Given the description of an element on the screen output the (x, y) to click on. 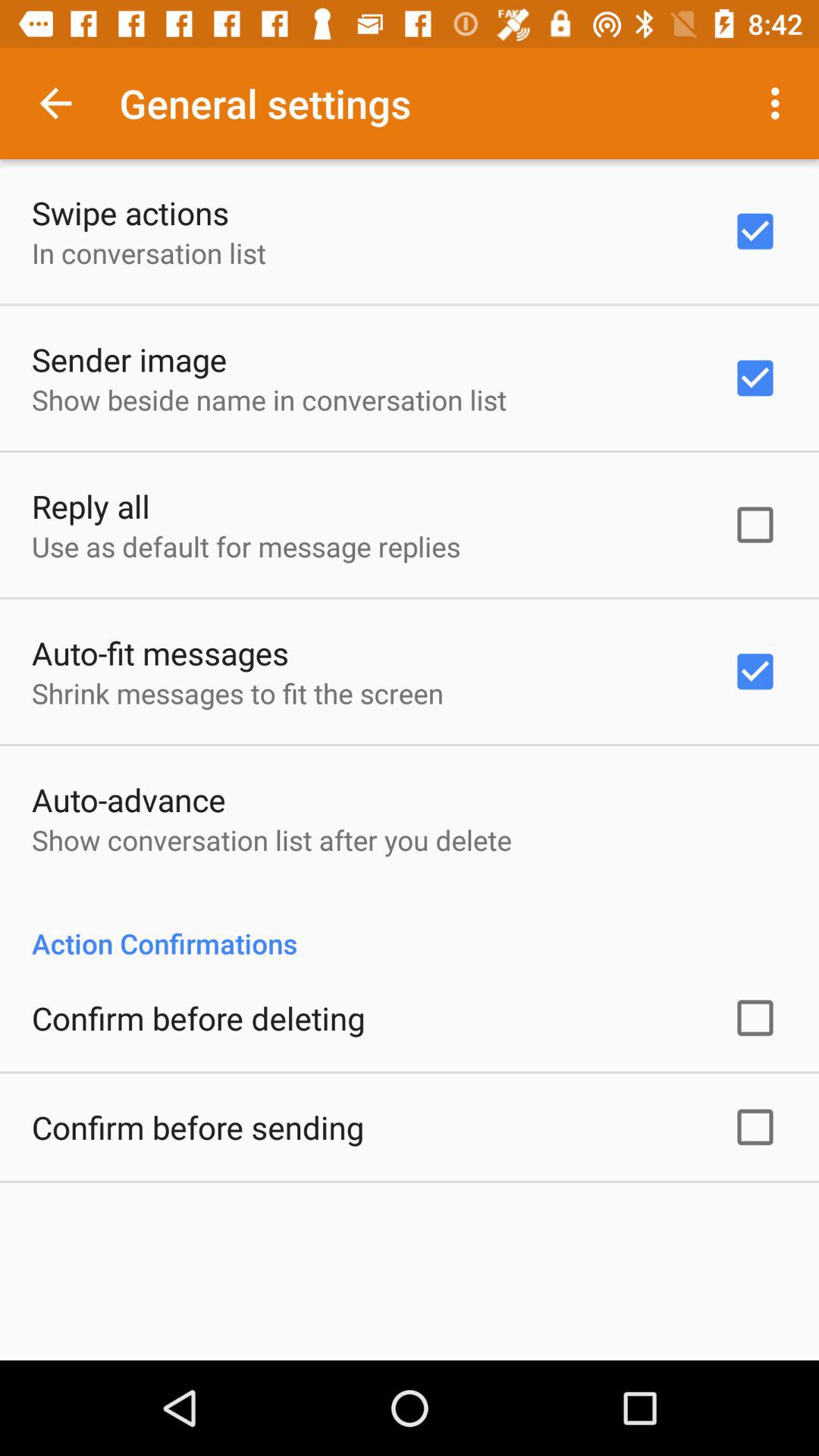
turn off icon next to the general settings icon (55, 103)
